Given the description of an element on the screen output the (x, y) to click on. 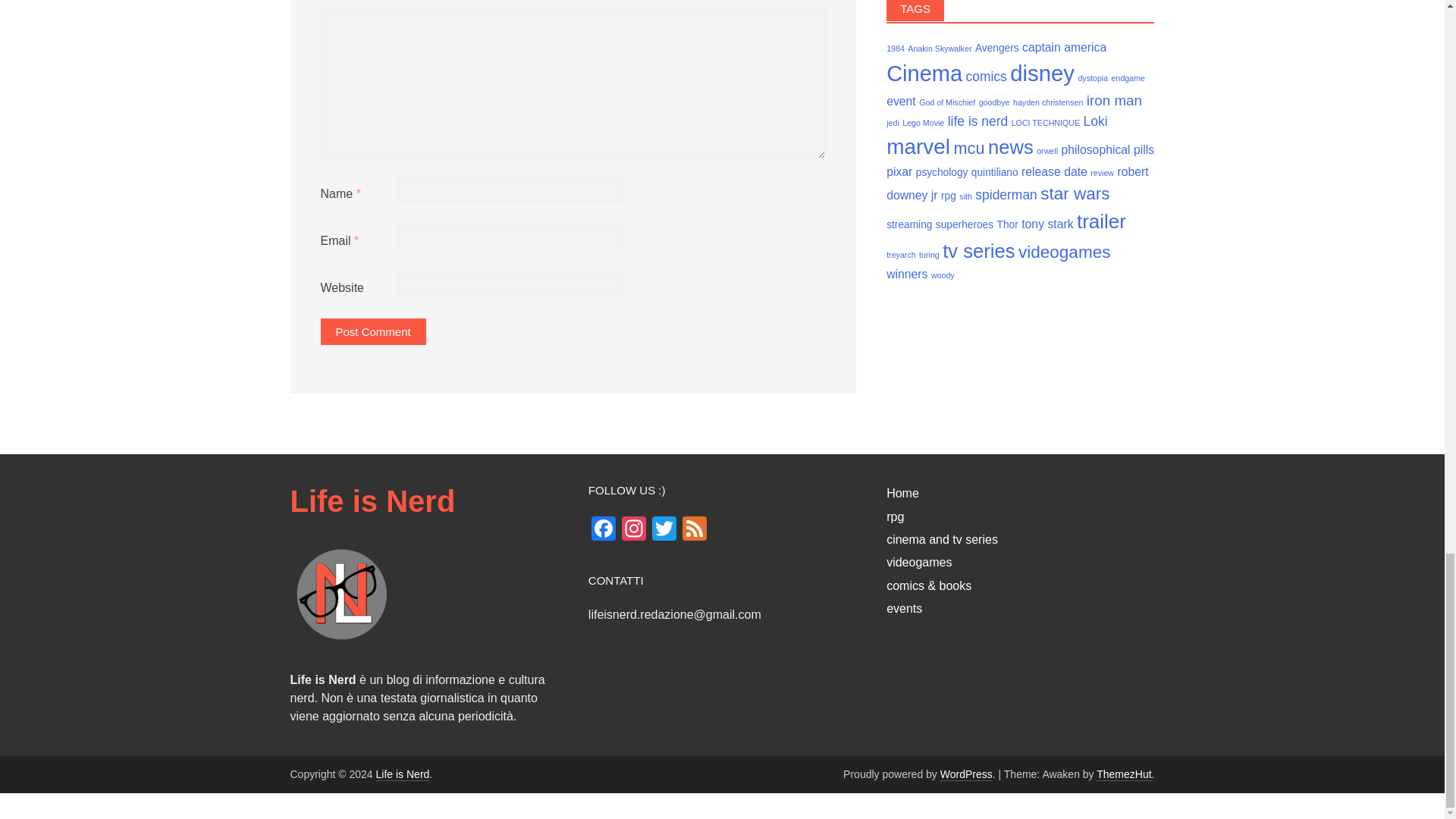
Post Comment (372, 331)
